Given the description of an element on the screen output the (x, y) to click on. 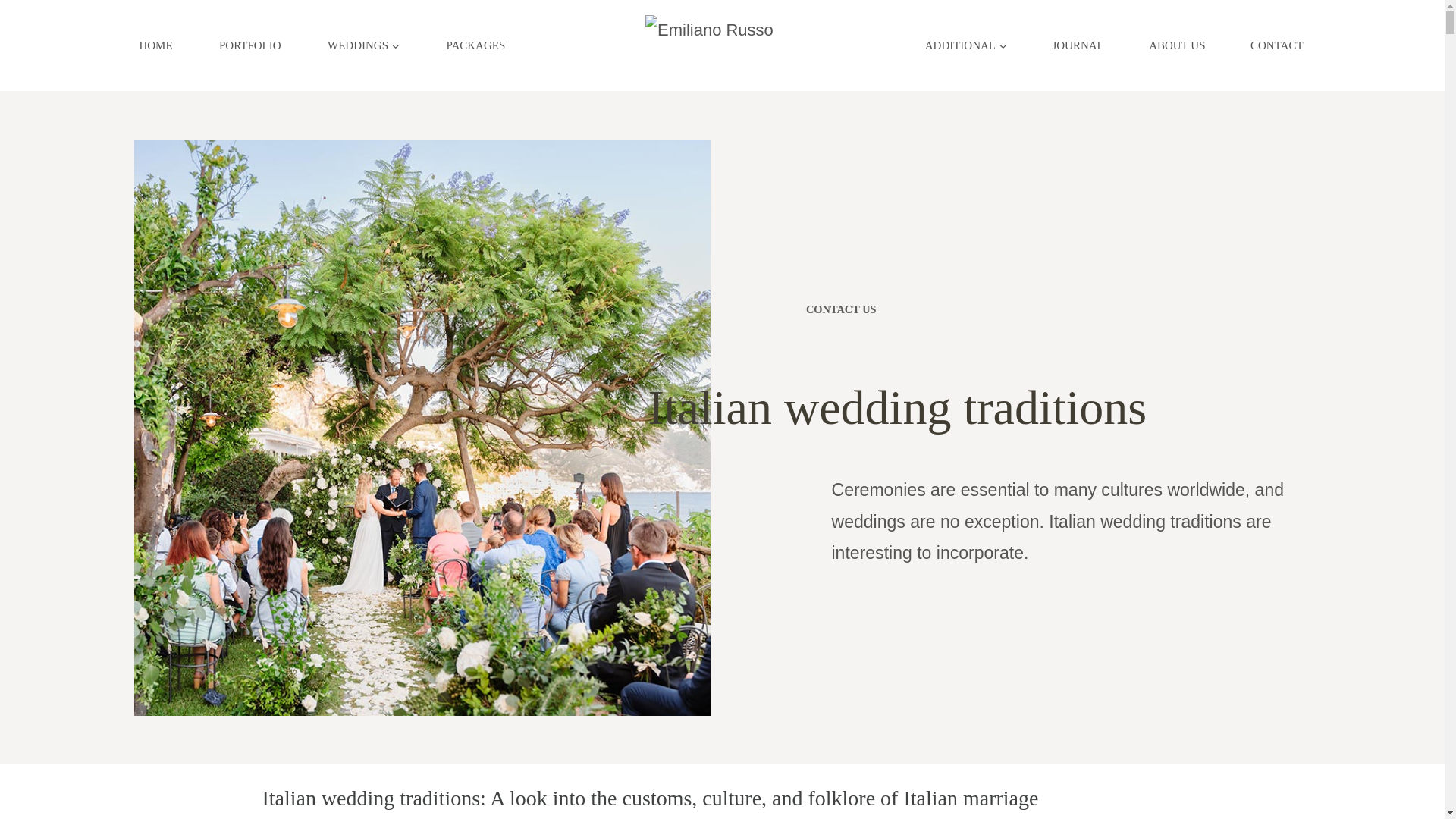
WEDDINGS (363, 45)
JOURNAL (1078, 45)
ABOUT US (1177, 45)
CONTACT US (976, 305)
PORTFOLIO (249, 45)
PACKAGES (475, 45)
ADDITIONAL (966, 45)
CONTACT (1276, 45)
HOME (156, 45)
